Given the description of an element on the screen output the (x, y) to click on. 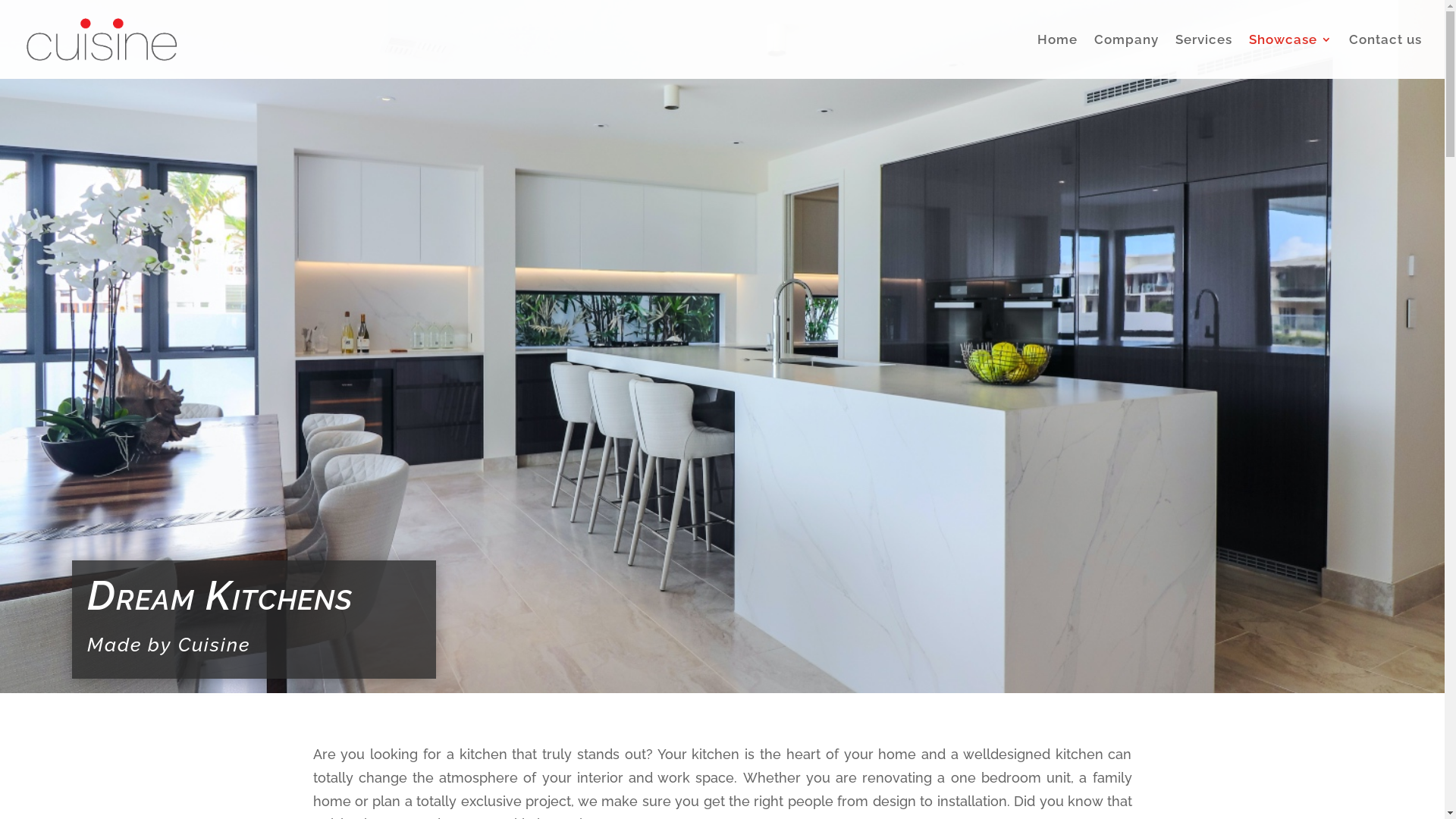
Services Element type: text (1203, 56)
Home Element type: text (1057, 56)
Showcase Element type: text (1290, 56)
Contact us Element type: text (1385, 56)
Company Element type: text (1126, 56)
